Given the description of an element on the screen output the (x, y) to click on. 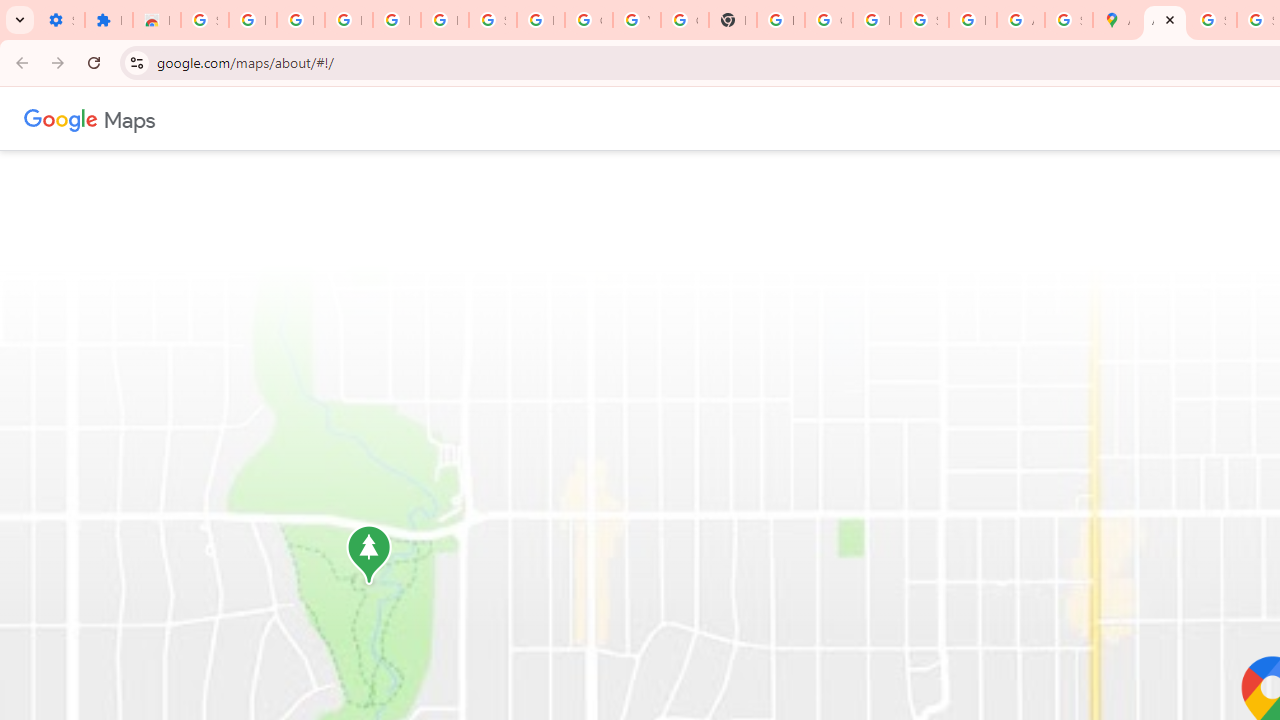
Learn how to find your photos - Google Photos Help (396, 20)
Google Account (588, 20)
New Tab (732, 20)
https://scholar.google.com/ (780, 20)
